Given the description of an element on the screen output the (x, y) to click on. 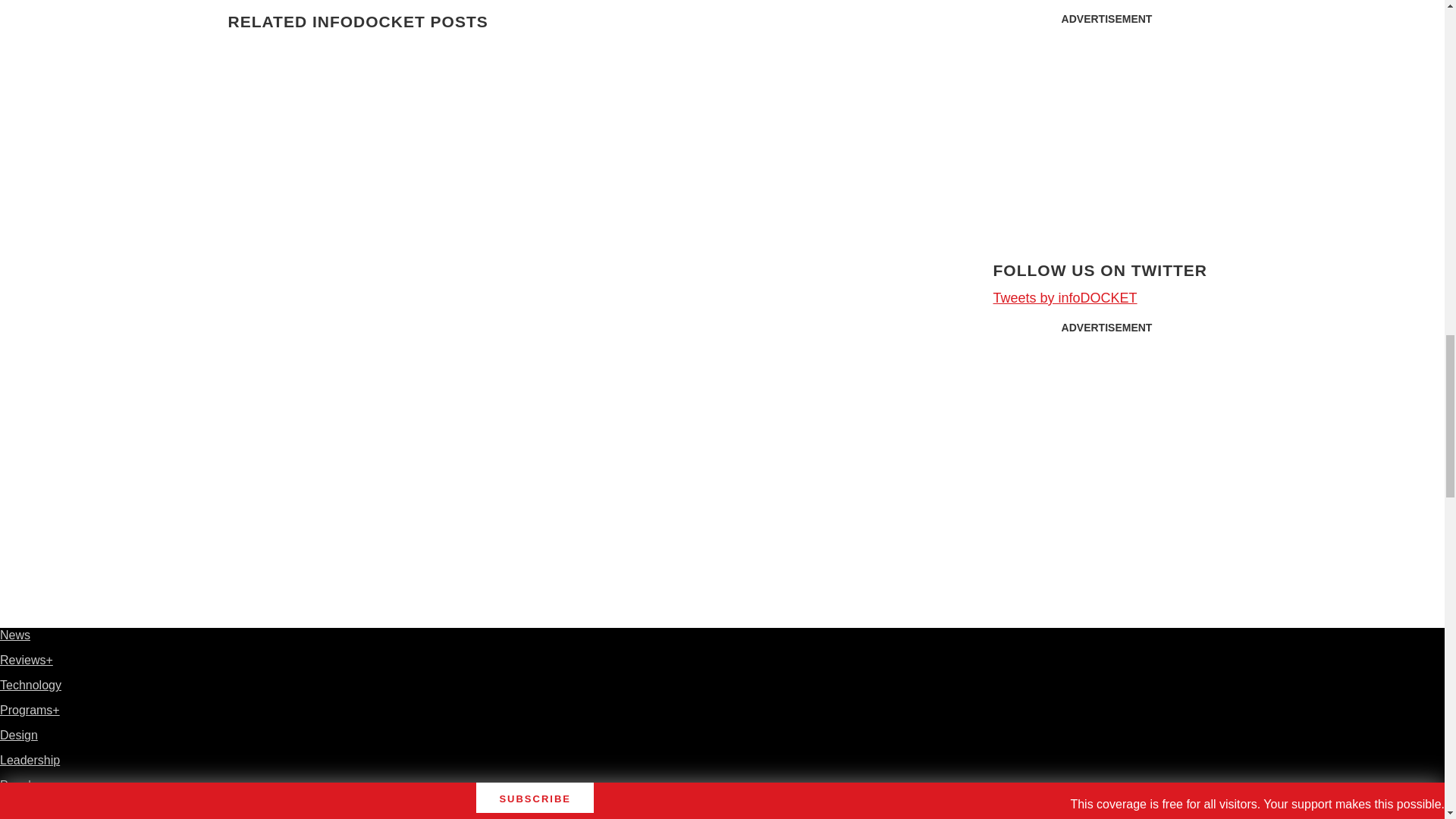
3rd party ad content (1106, 127)
3rd party ad content (1106, 436)
